Given the description of an element on the screen output the (x, y) to click on. 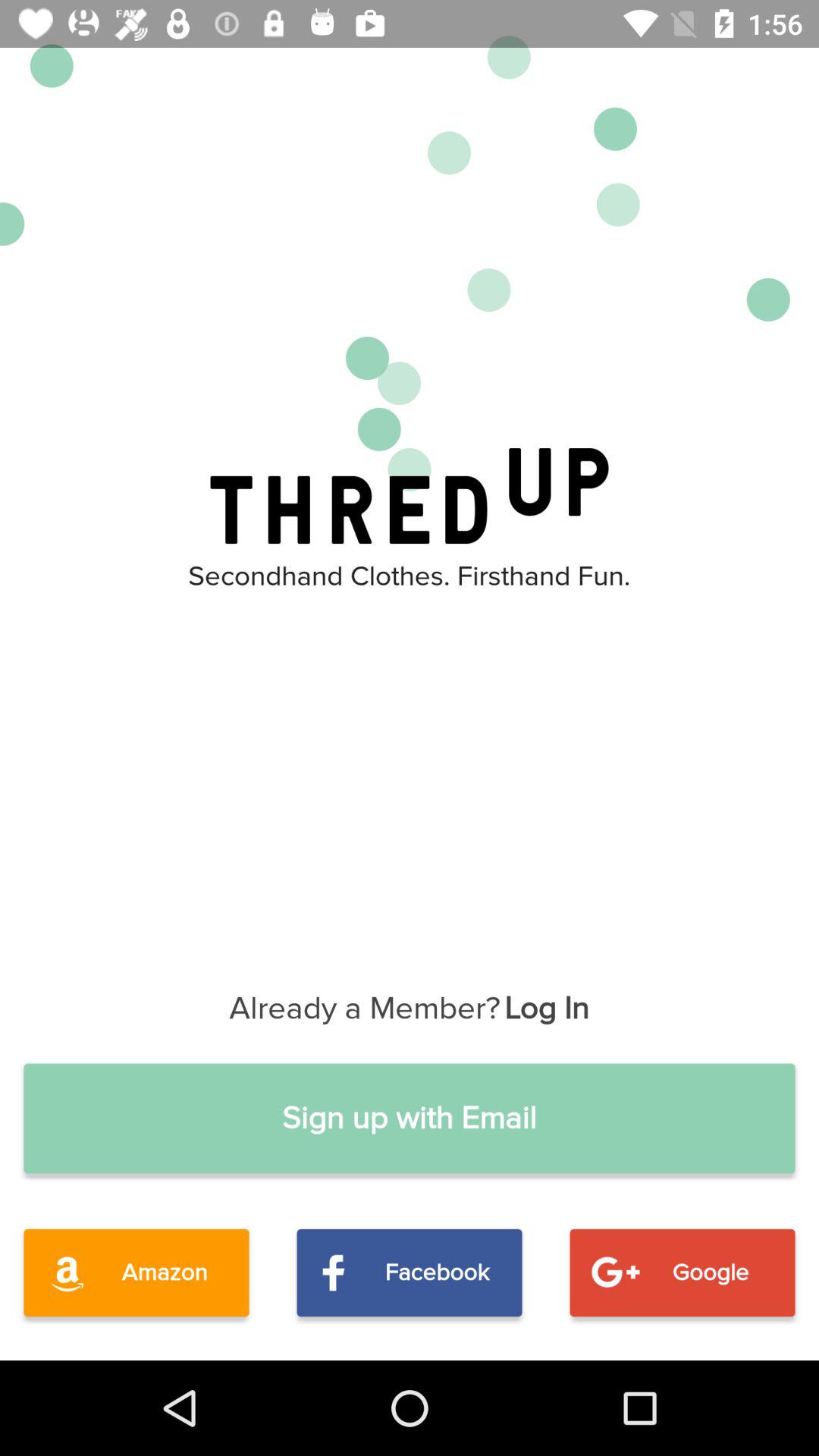
click icon to the right of the amazon icon (409, 1272)
